Given the description of an element on the screen output the (x, y) to click on. 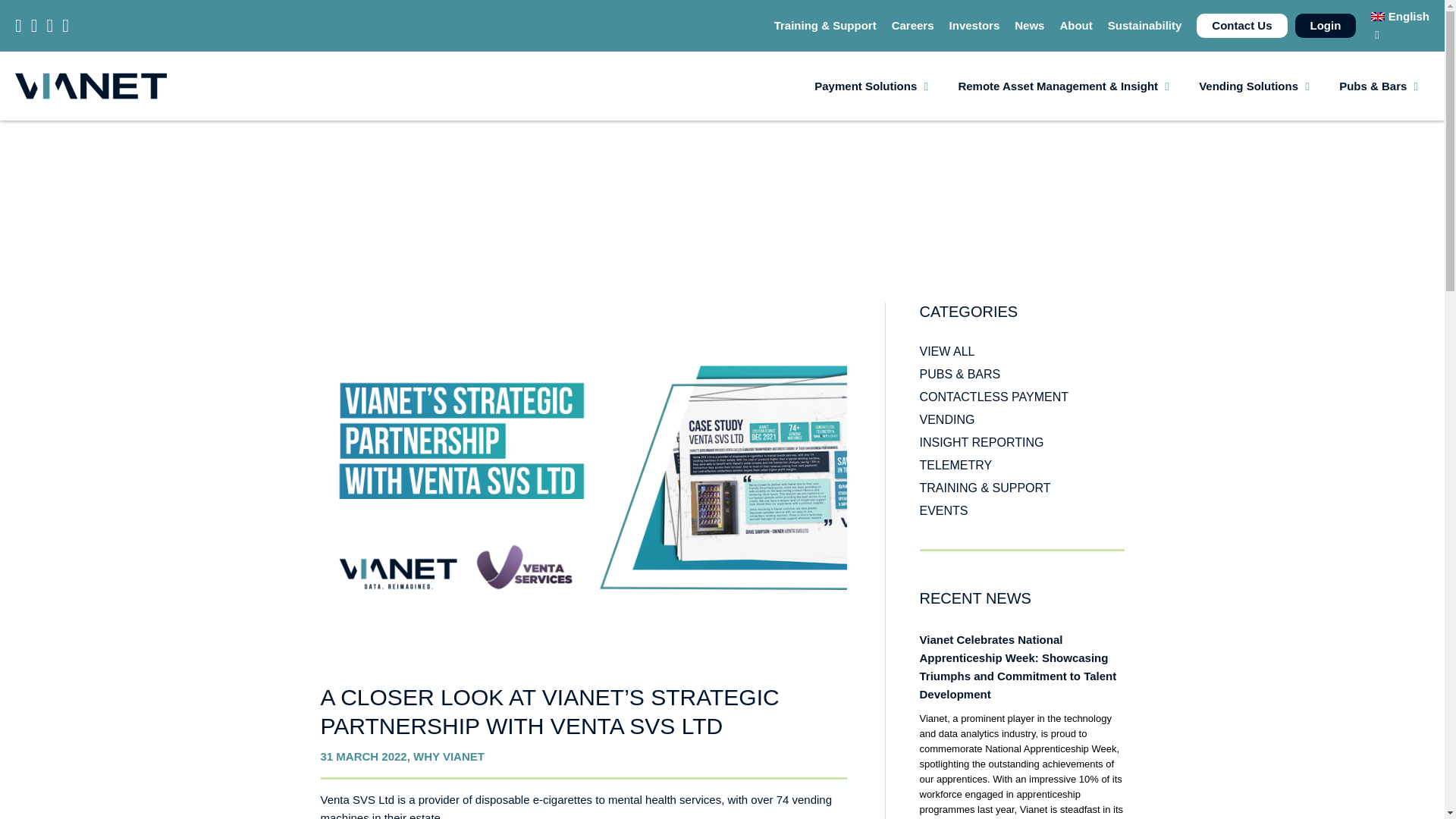
Login (1325, 24)
About (1075, 24)
English (1400, 16)
Investors (974, 24)
News (1028, 24)
Contact Us (1241, 24)
English (1400, 16)
Vending Solutions (1248, 85)
Payment Solutions (865, 85)
Careers (912, 24)
Sustainability (1145, 24)
